Given the description of an element on the screen output the (x, y) to click on. 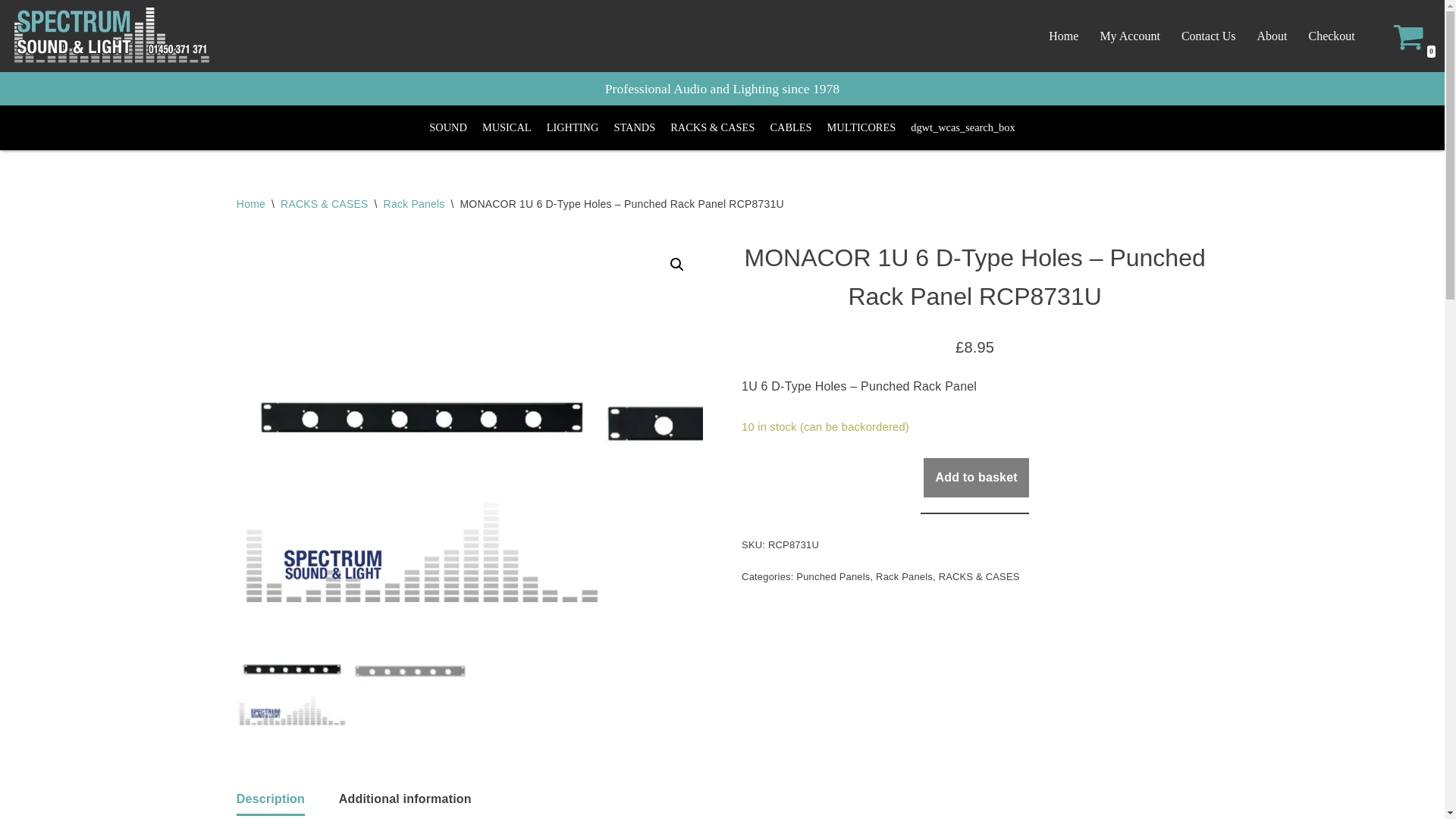
LIGHTING (572, 127)
CABLES (789, 127)
About (1271, 35)
Rack Panels (414, 203)
Contact Us (1208, 35)
Skip to content (11, 31)
My Account (1129, 35)
SOUND (448, 127)
Spectrum (111, 35)
Home (1063, 35)
MULTICORES (861, 127)
Checkout (1330, 35)
STANDS (633, 127)
